Given the description of an element on the screen output the (x, y) to click on. 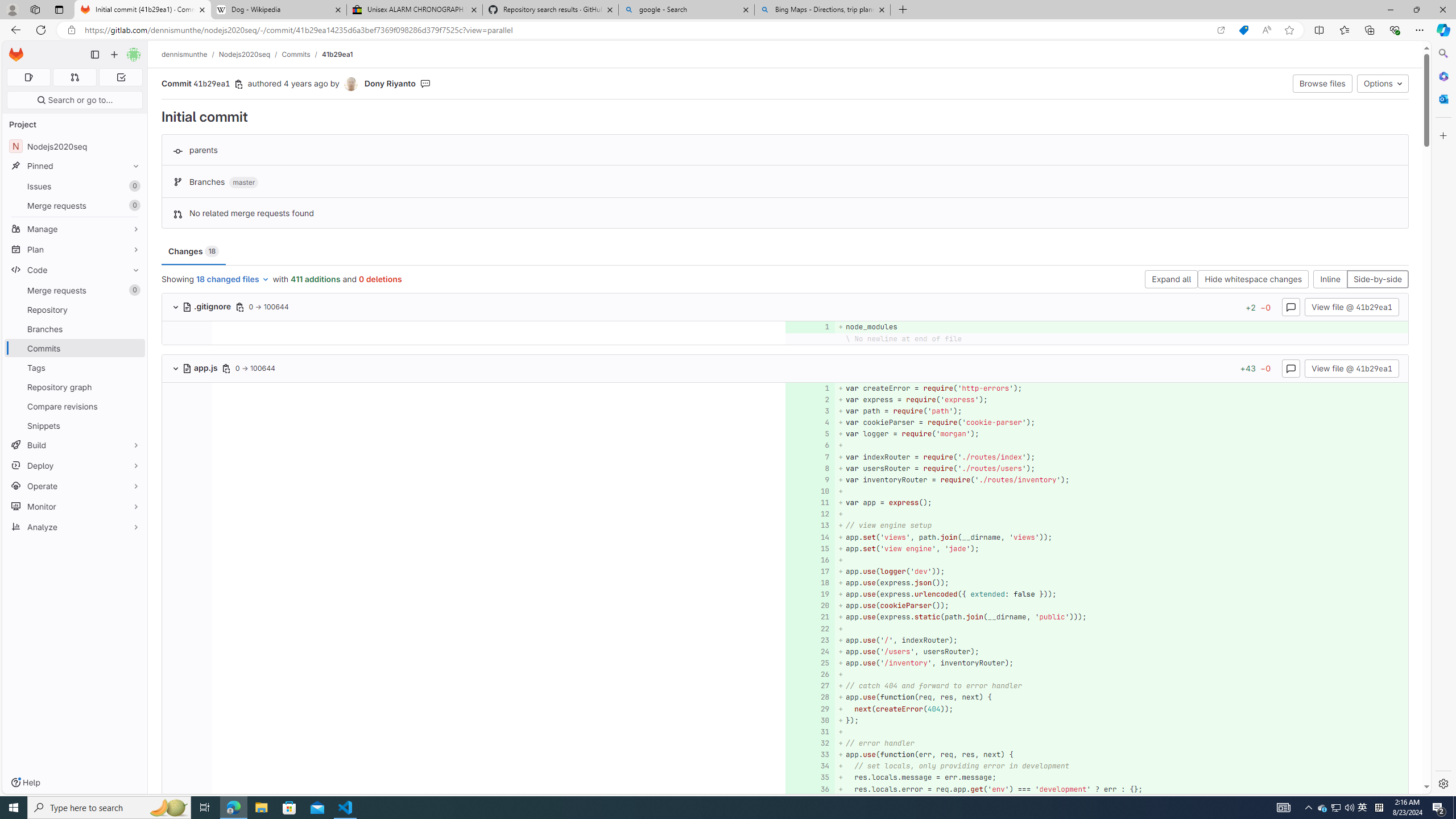
N Nodejs2020seq (74, 145)
Snippets (74, 425)
Unpin Issues (132, 186)
Class: old_line diff-line-num empty-cell (186, 788)
Add a comment to this line 24 (809, 651)
Pin Tags (132, 367)
1 (808, 387)
Compare revisions (74, 406)
Class: s12 (806, 787)
Dog - Wikipedia (277, 9)
Add a comment to this line 19 (809, 594)
Tags (74, 367)
Add a comment to this line 33 (809, 754)
